Given the description of an element on the screen output the (x, y) to click on. 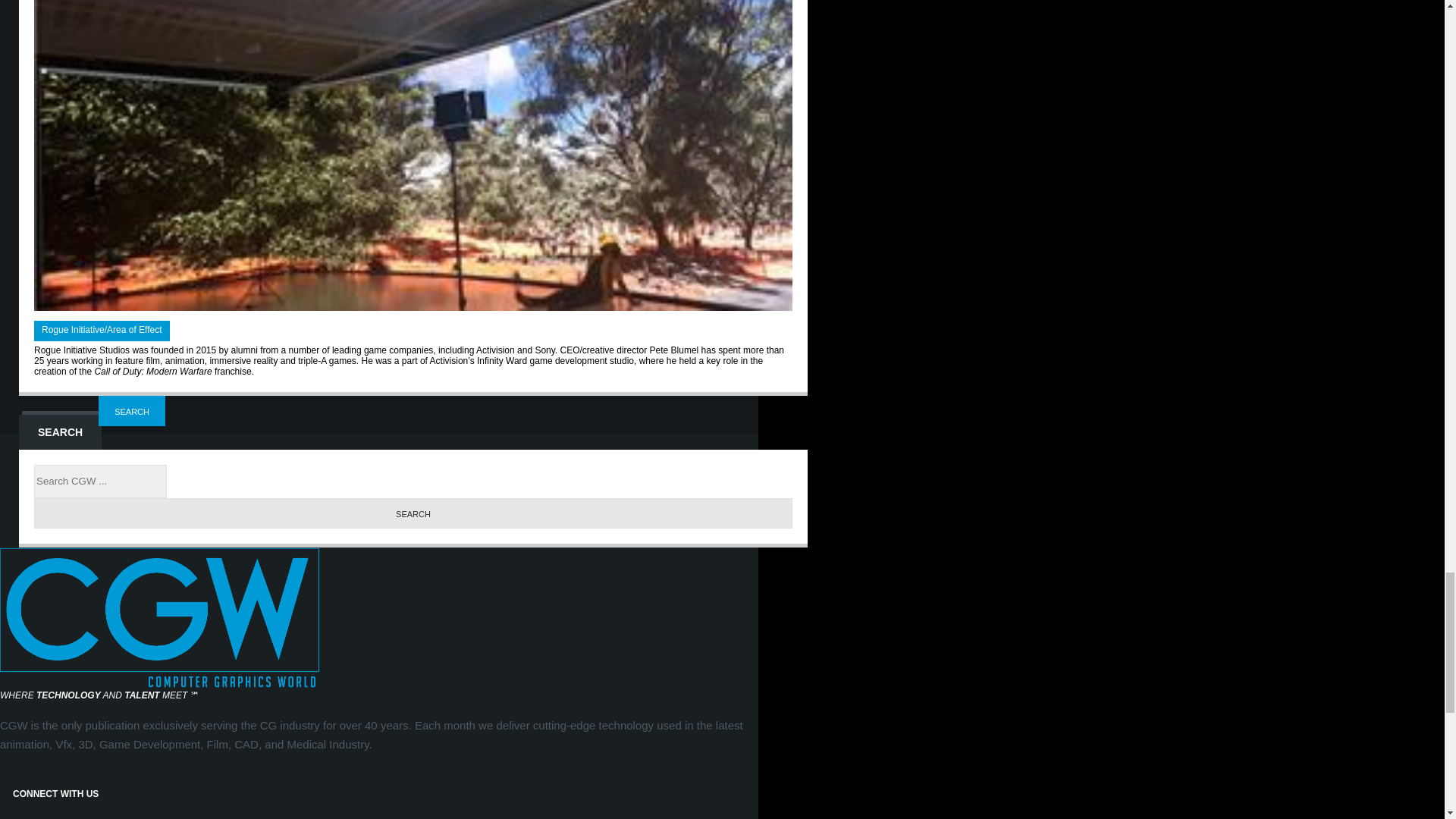
Search (132, 410)
Search (412, 512)
